Given the description of an element on the screen output the (x, y) to click on. 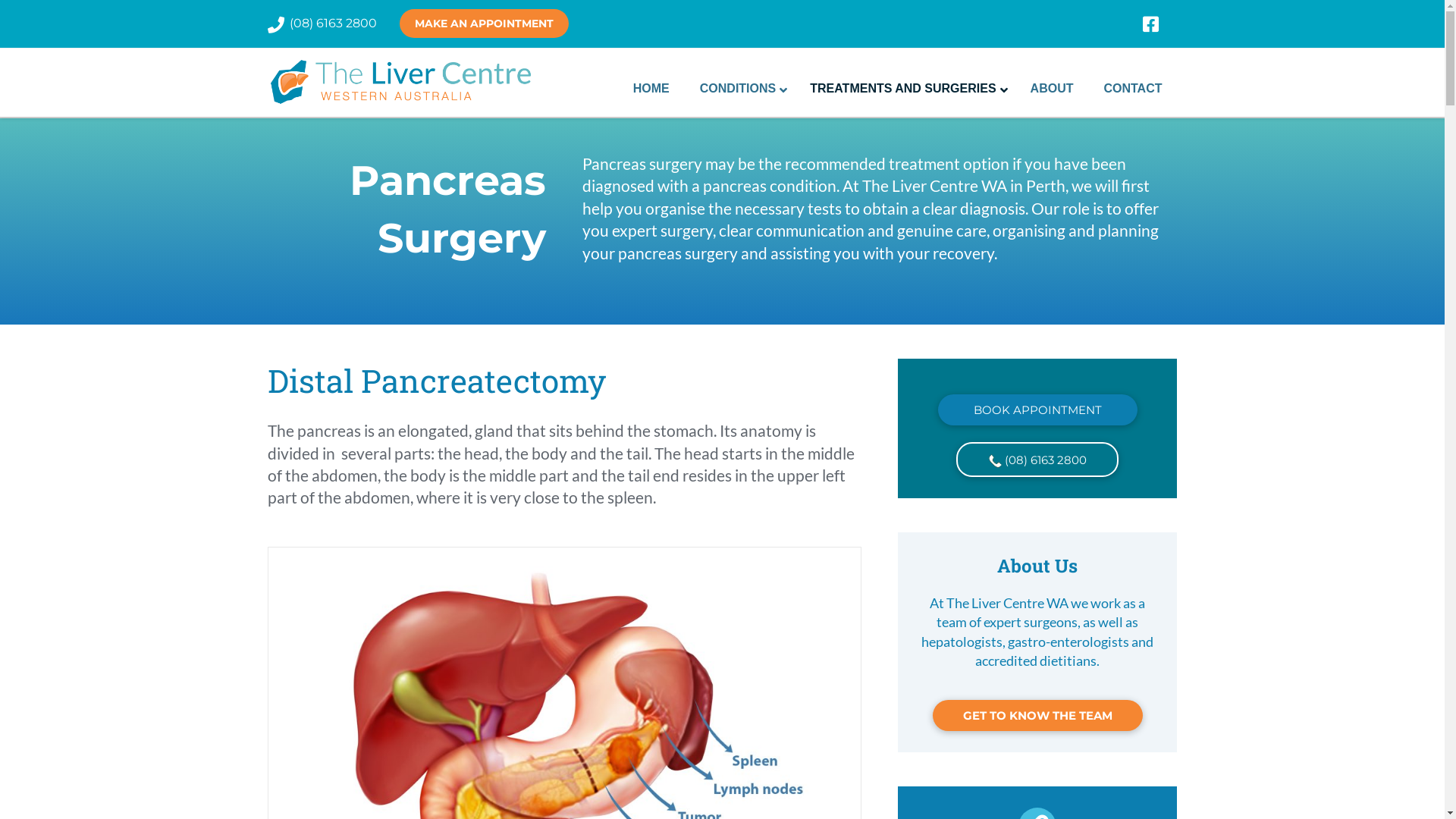
(08) 6163 2800 Element type: text (1037, 459)
CONTACT Element type: text (1132, 88)
ABOUT Element type: text (1051, 88)
MAKE AN APPOINTMENT Element type: text (482, 23)
GET TO KNOW THE TEAM Element type: text (1037, 715)
BOOK APPOINTMENT Element type: text (1037, 409)
Facebook Element type: hover (1159, 24)
HOME Element type: text (651, 88)
(08) 6163 2800 Element type: text (332, 22)
